Given the description of an element on the screen output the (x, y) to click on. 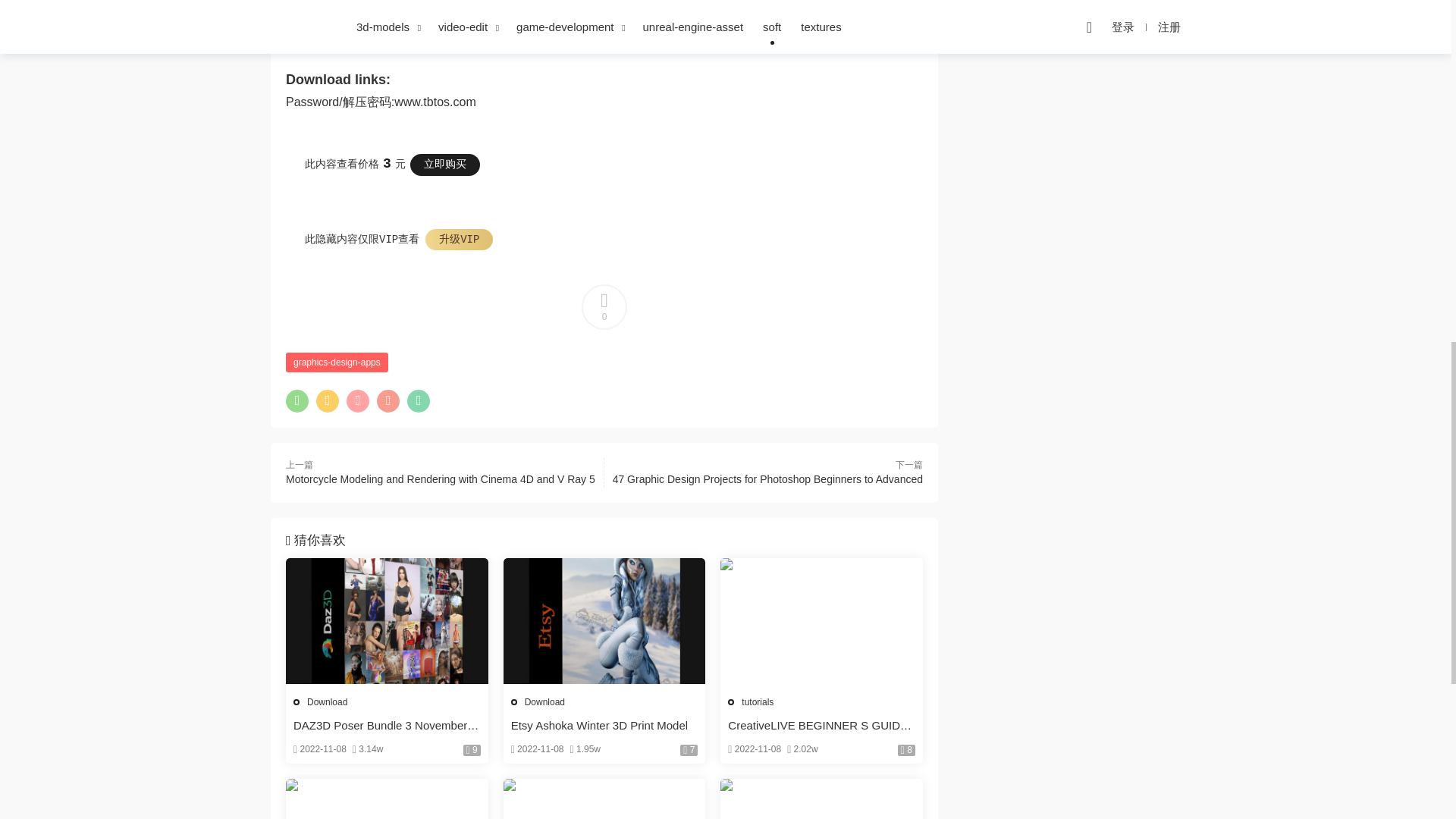
DAZ3D Poser Bundle 3 November 2022 (387, 725)
0 (603, 307)
Lightroom Classic (429, 42)
Download (544, 701)
graphics-design-apps (336, 362)
Motorcycle Modeling and Rendering with Cinema 4D and V Ray 5 (440, 479)
Adobe (302, 42)
Etsy Ashoka Winter 3D Print Model (604, 725)
